Given the description of an element on the screen output the (x, y) to click on. 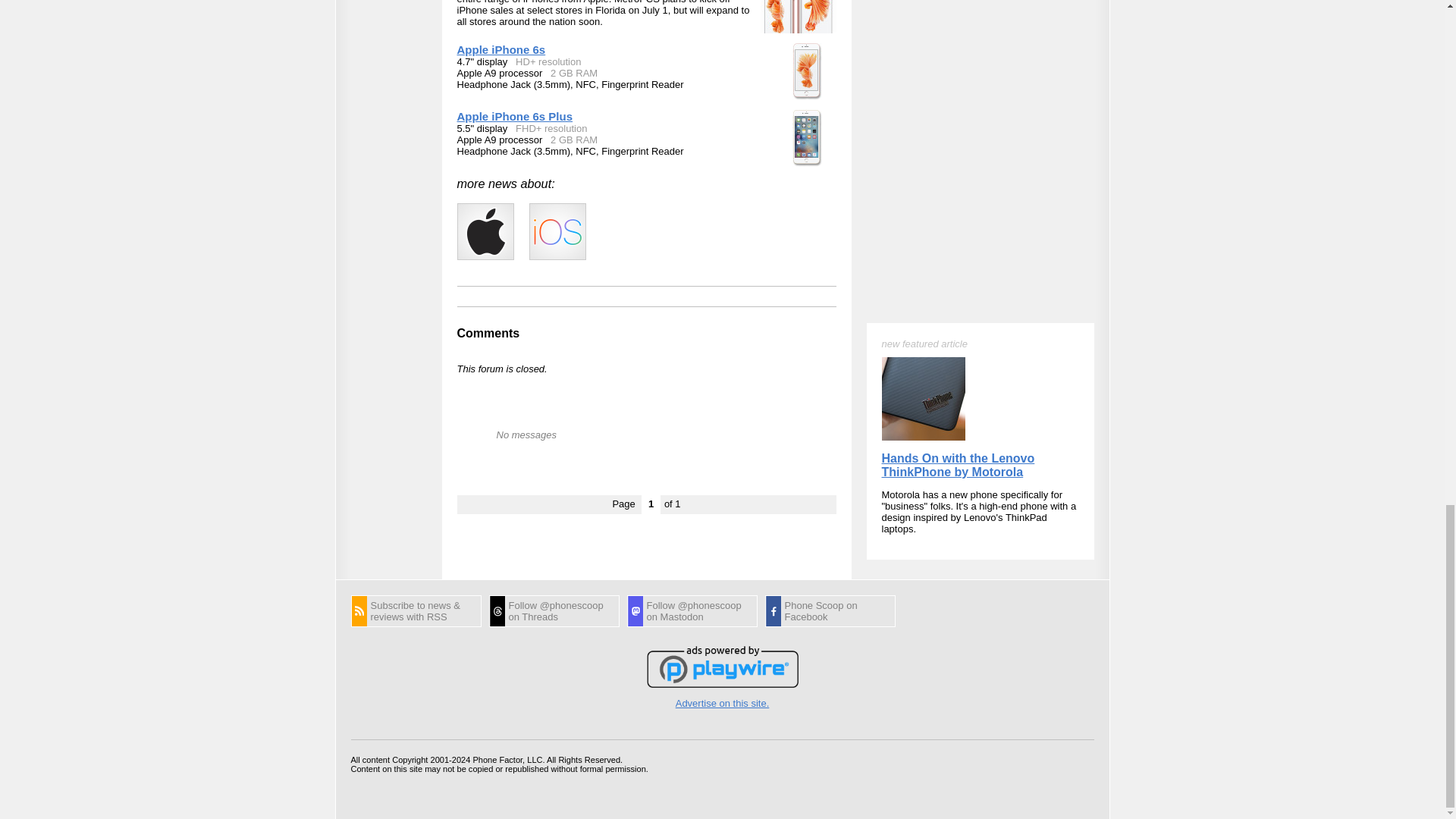
iOS (557, 231)
Apple (485, 231)
Phone Scoop - Latest News (415, 611)
Comments (488, 332)
